Given the description of an element on the screen output the (x, y) to click on. 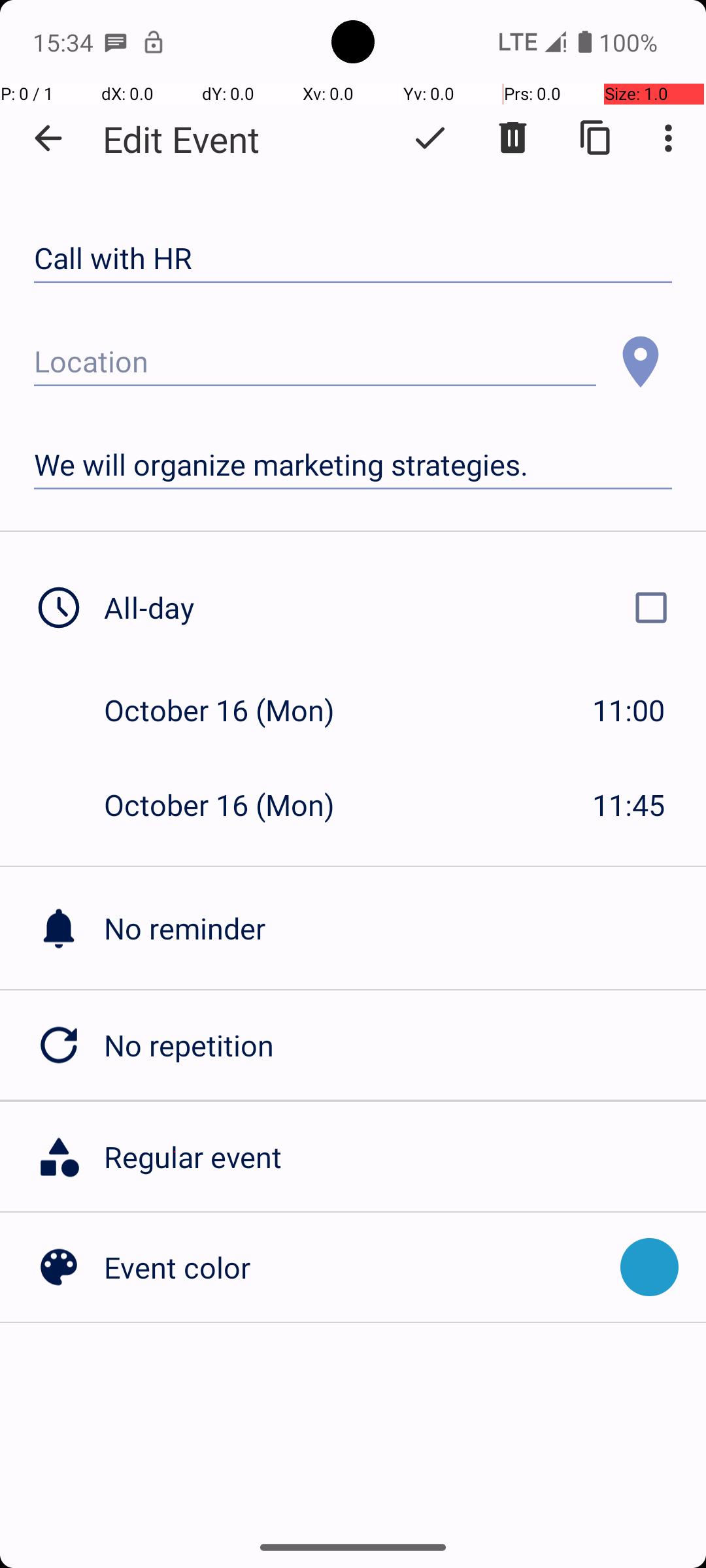
Call with HR Element type: android.widget.EditText (352, 258)
We will organize marketing strategies. Element type: android.widget.EditText (352, 465)
11:45 Element type: android.widget.TextView (628, 804)
